Given the description of an element on the screen output the (x, y) to click on. 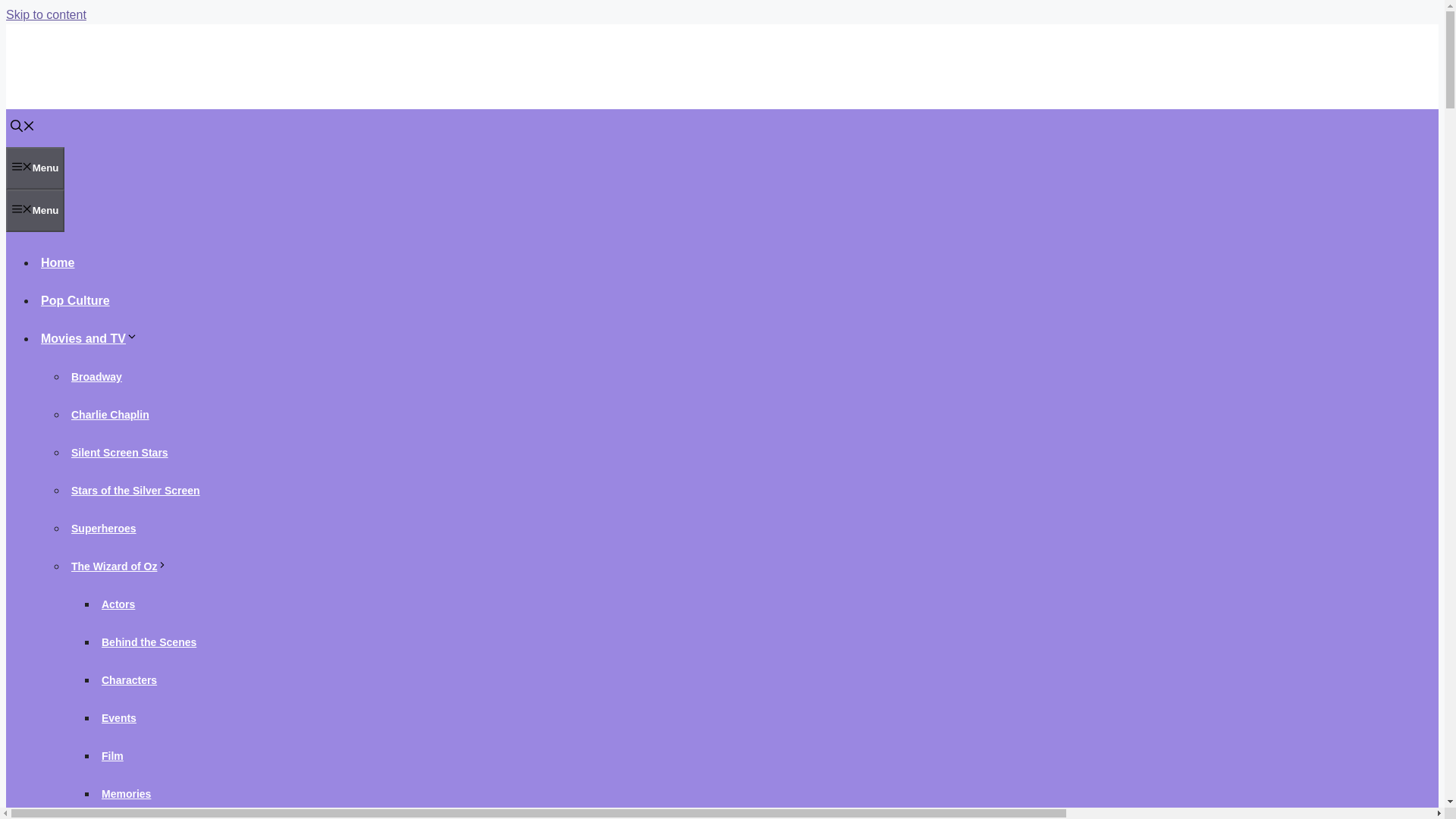
Charlie Chaplin (110, 414)
Actors (118, 604)
Home (57, 262)
Characters (129, 679)
Skip to content (45, 14)
Memories (126, 793)
Superheroes (103, 528)
Stars of the Silver Screen (135, 490)
Broadway (96, 376)
Menu (34, 210)
